Given the description of an element on the screen output the (x, y) to click on. 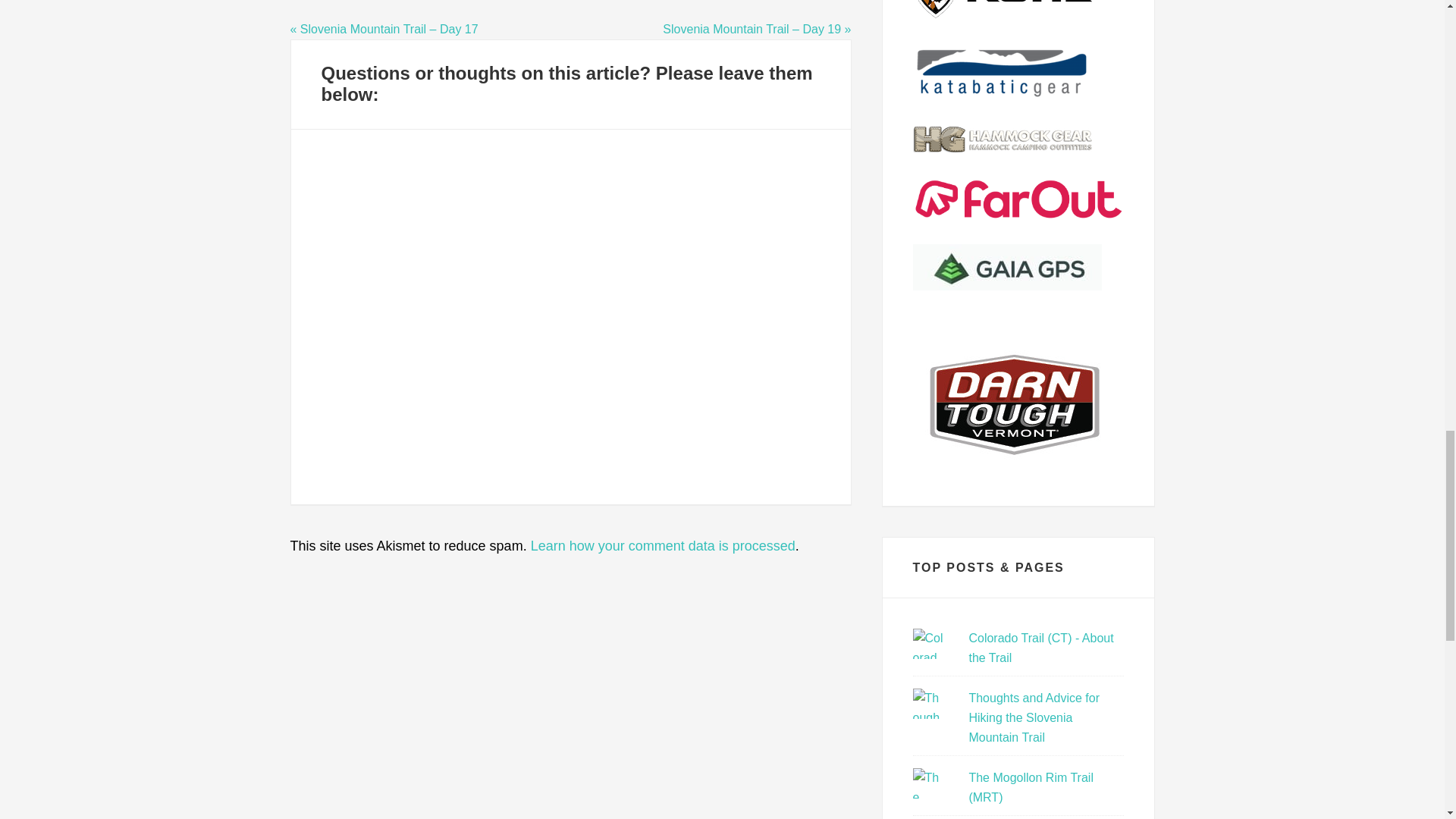
Thoughts and Advice for Hiking the Slovenia Mountain Trail (1033, 717)
Learn how your comment data is processed (662, 545)
